Given the description of an element on the screen output the (x, y) to click on. 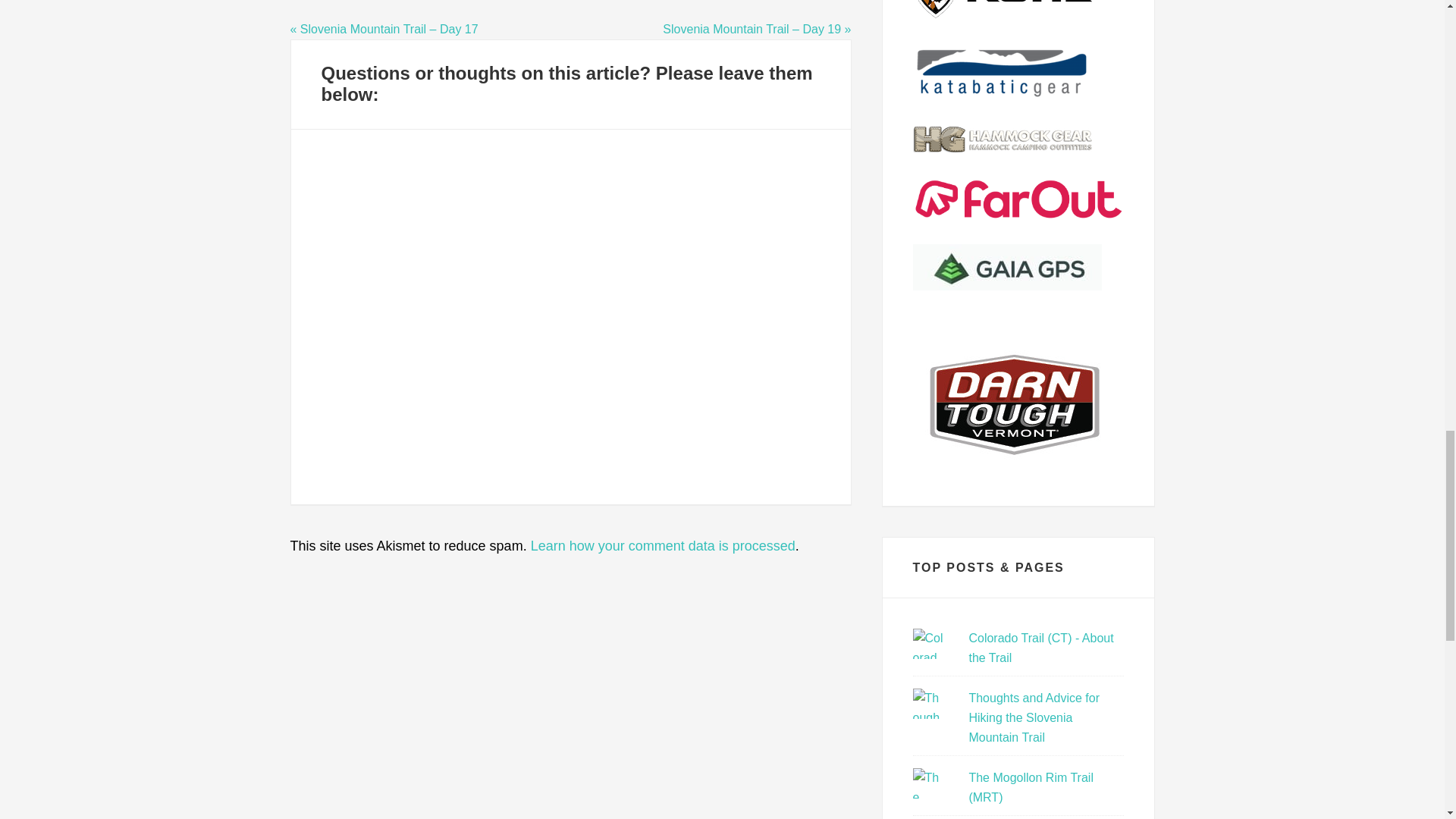
Thoughts and Advice for Hiking the Slovenia Mountain Trail (1033, 717)
Learn how your comment data is processed (662, 545)
